Given the description of an element on the screen output the (x, y) to click on. 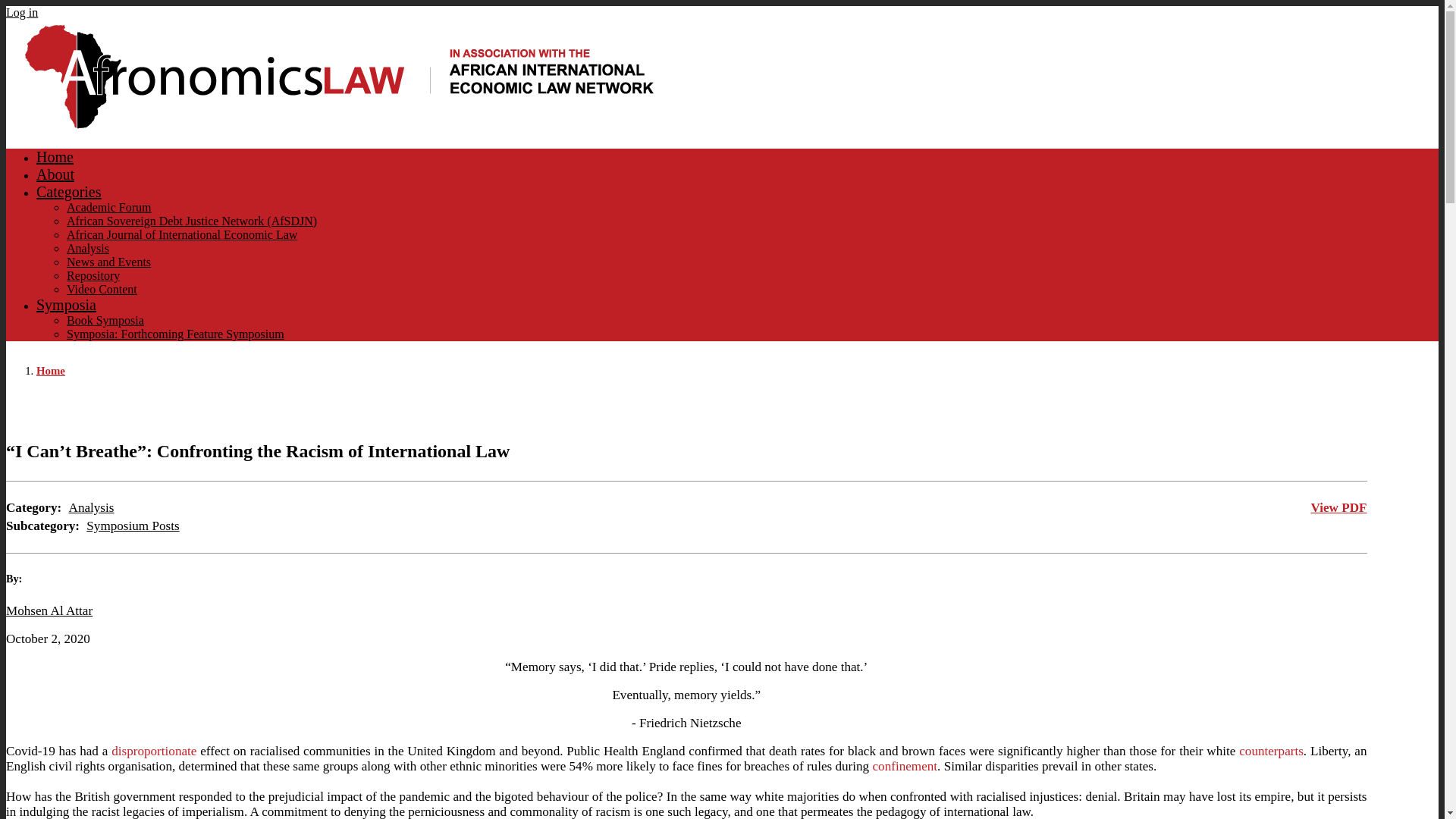
Video Content (101, 288)
Analysis (91, 507)
Academic Forum (108, 206)
African Journal of International Economic Law (181, 234)
Share to X (1292, 409)
About (55, 174)
Categories (68, 191)
Repository (92, 275)
Repository (92, 275)
News and Events (108, 261)
Skip to main content (722, 7)
Home (50, 370)
Share to Linkedin (1334, 409)
Home (55, 156)
counterparts (1271, 750)
